Given the description of an element on the screen output the (x, y) to click on. 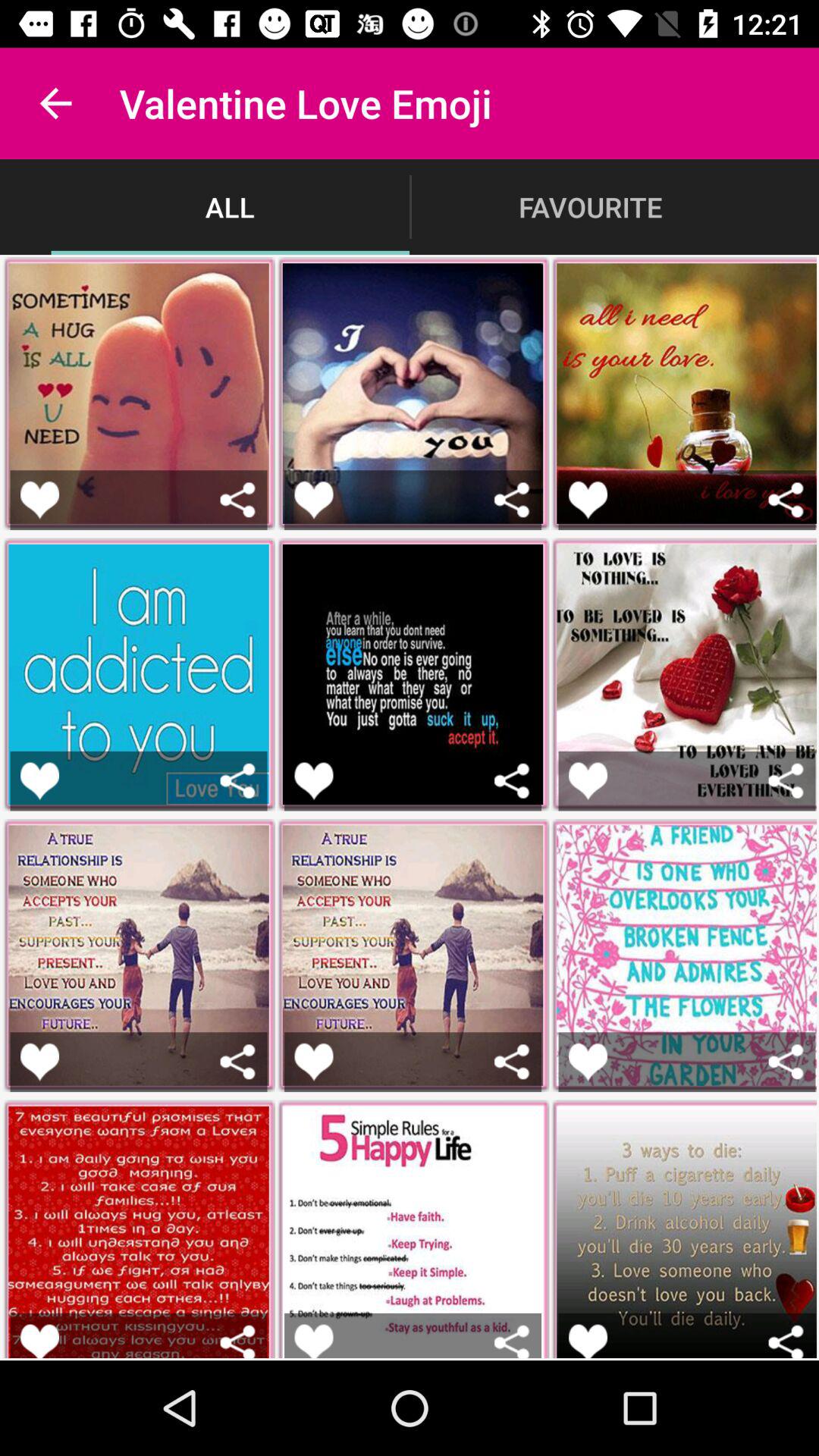
share the image (511, 780)
